Given the description of an element on the screen output the (x, y) to click on. 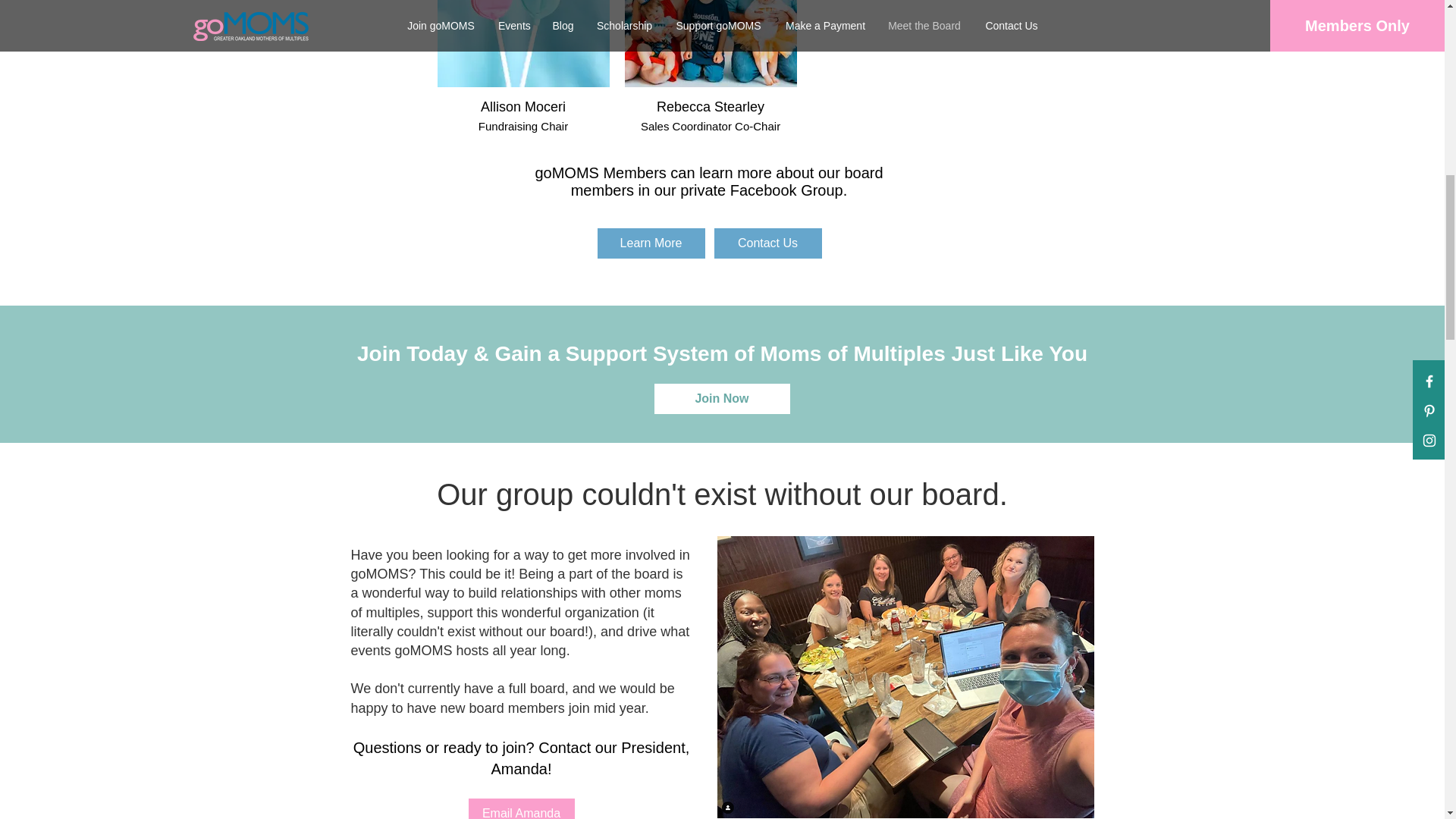
Contact Us (768, 243)
Join Now (721, 399)
Learn More (650, 243)
Email Amanda (521, 808)
